Given the description of an element on the screen output the (x, y) to click on. 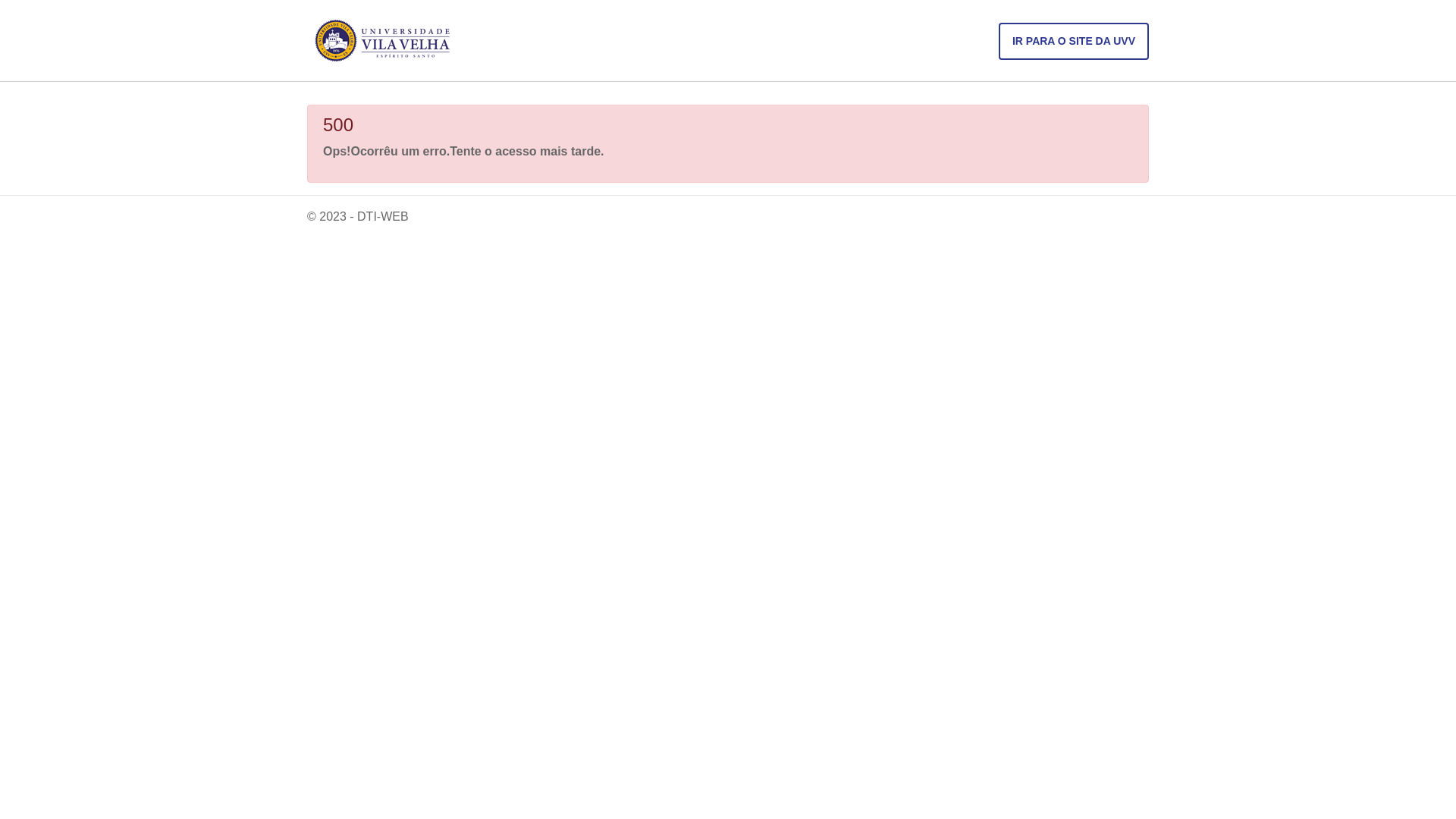
IR PARA O SITE DA UVV Element type: text (1073, 40)
